Given the description of an element on the screen output the (x, y) to click on. 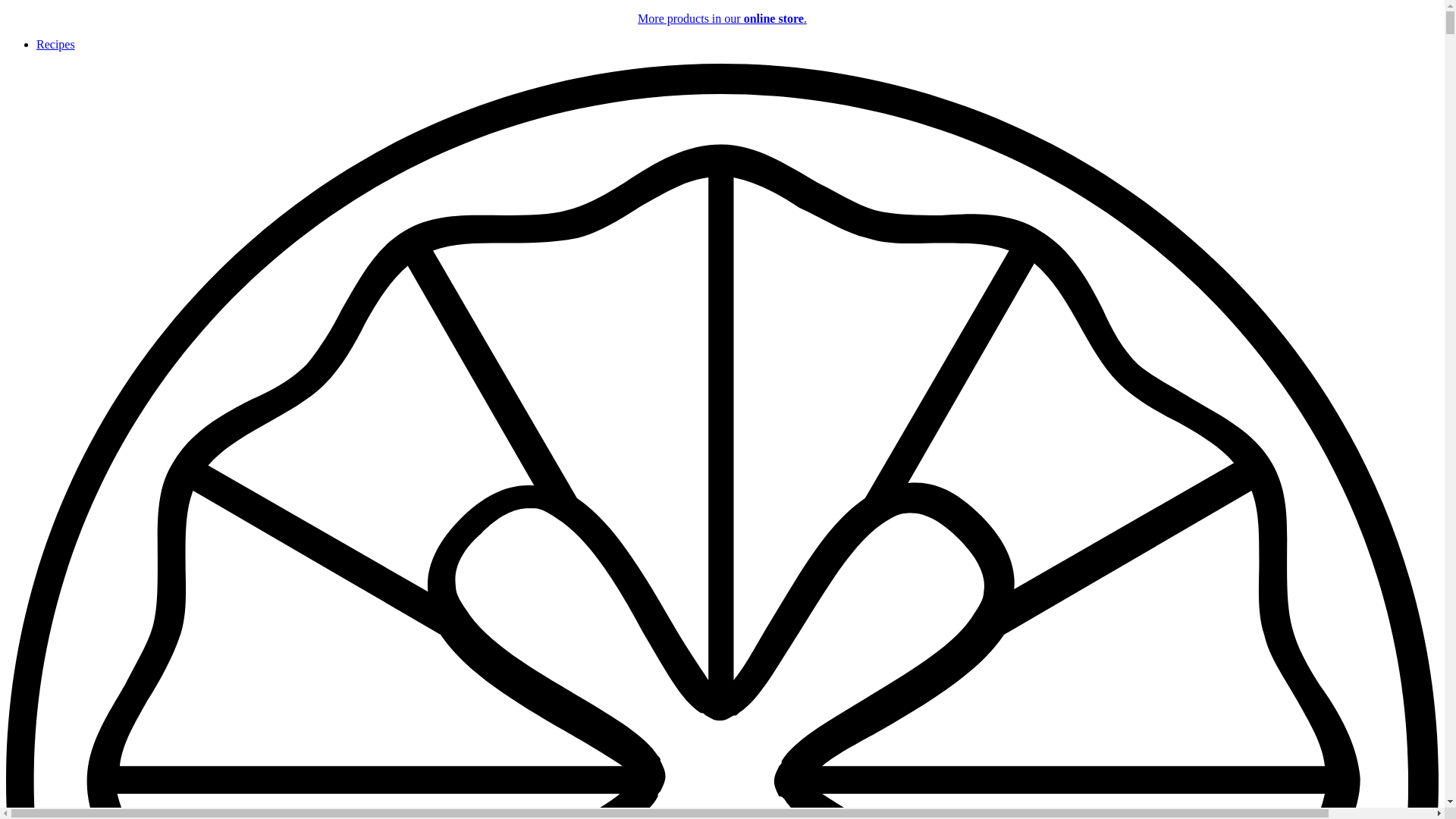
Recipes (55, 43)
